Given the description of an element on the screen output the (x, y) to click on. 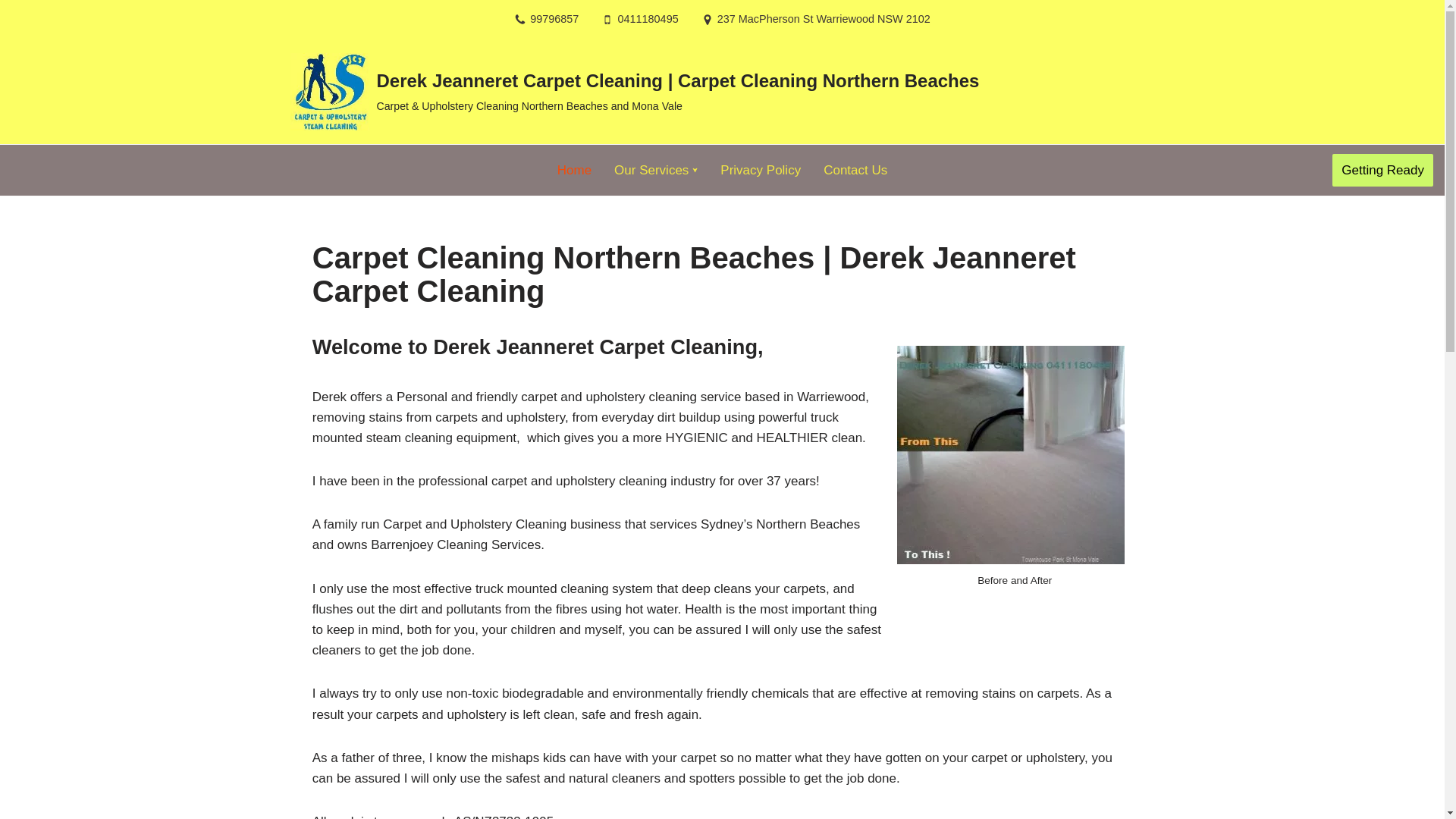
Home Element type: text (574, 170)
Getting Ready Element type: text (1382, 169)
Skip to content Element type: text (11, 31)
Privacy Policy Element type: text (760, 170)
Our Services Element type: text (651, 170)
0411180495 Element type: text (647, 19)
99796857 Element type: text (554, 19)
Contact Us Element type: text (855, 170)
